Given the description of an element on the screen output the (x, y) to click on. 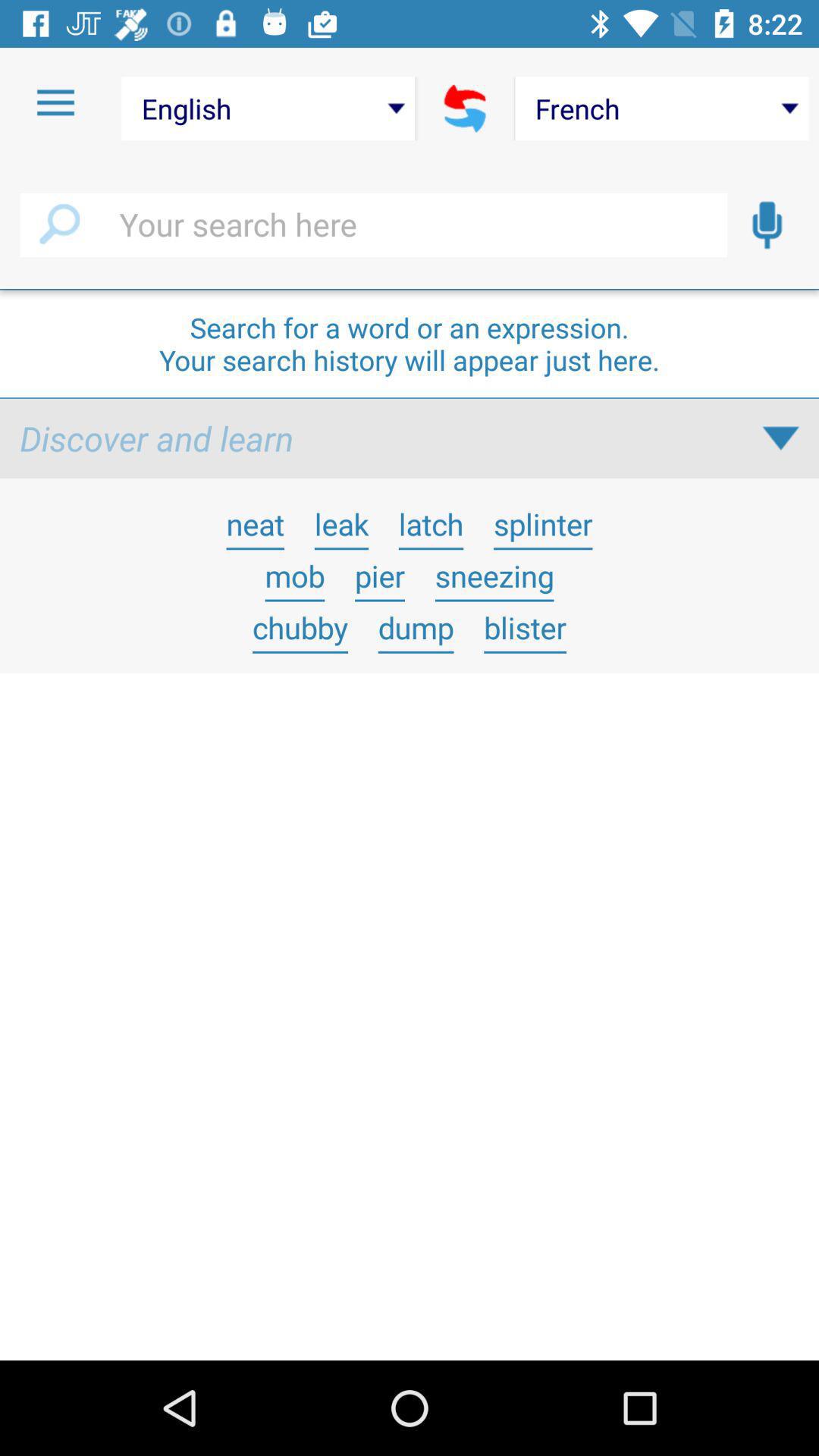
launch neat icon (255, 523)
